Given the description of an element on the screen output the (x, y) to click on. 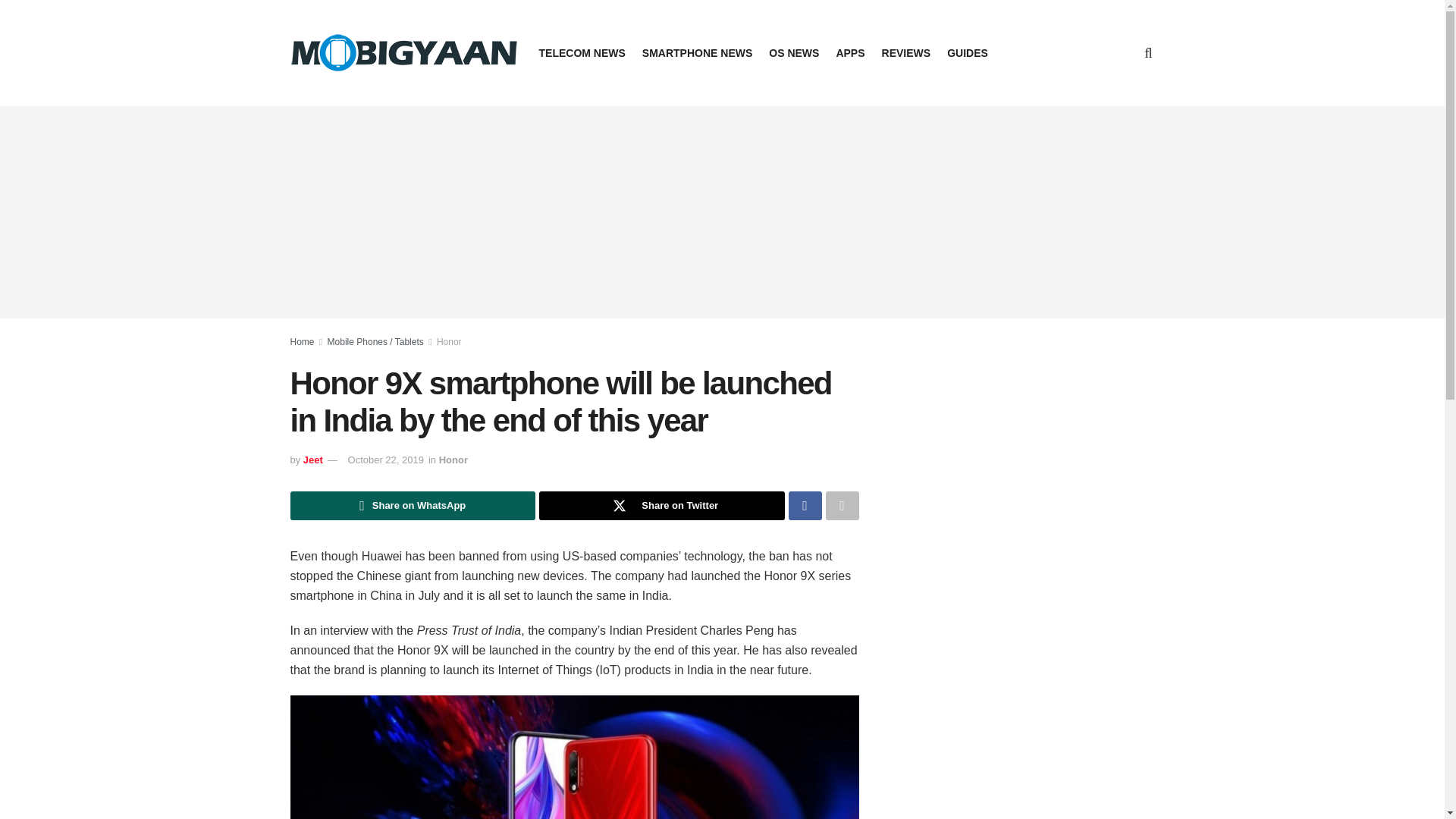
SMARTPHONE NEWS (697, 52)
Share on WhatsApp (412, 505)
Share on Twitter (661, 505)
TELECOM NEWS (581, 52)
Jeet (312, 460)
Honor (448, 341)
October 22, 2019 (385, 460)
APPS (849, 52)
